Given the description of an element on the screen output the (x, y) to click on. 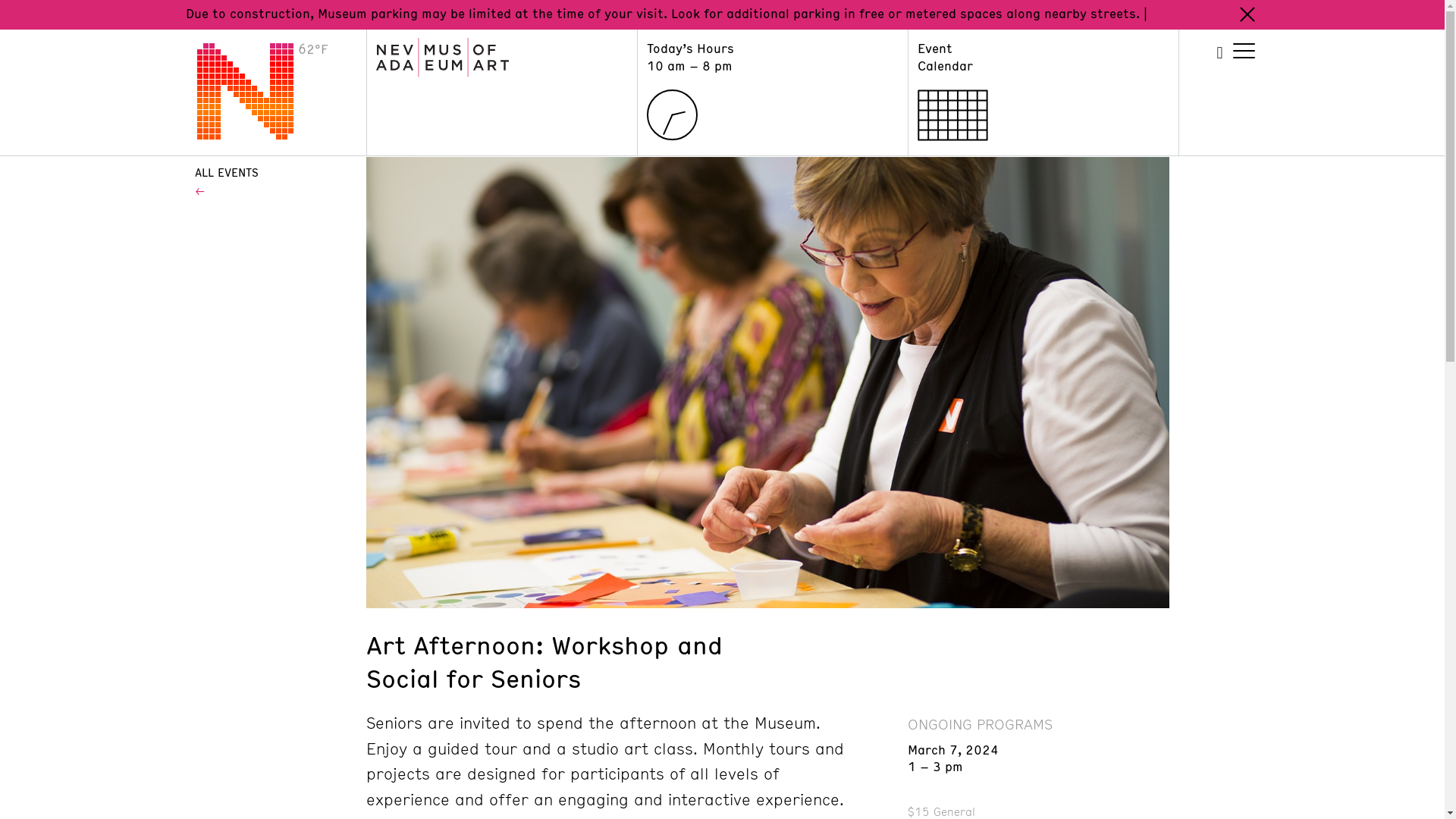
ALL EVENTS (270, 172)
